Given the description of an element on the screen output the (x, y) to click on. 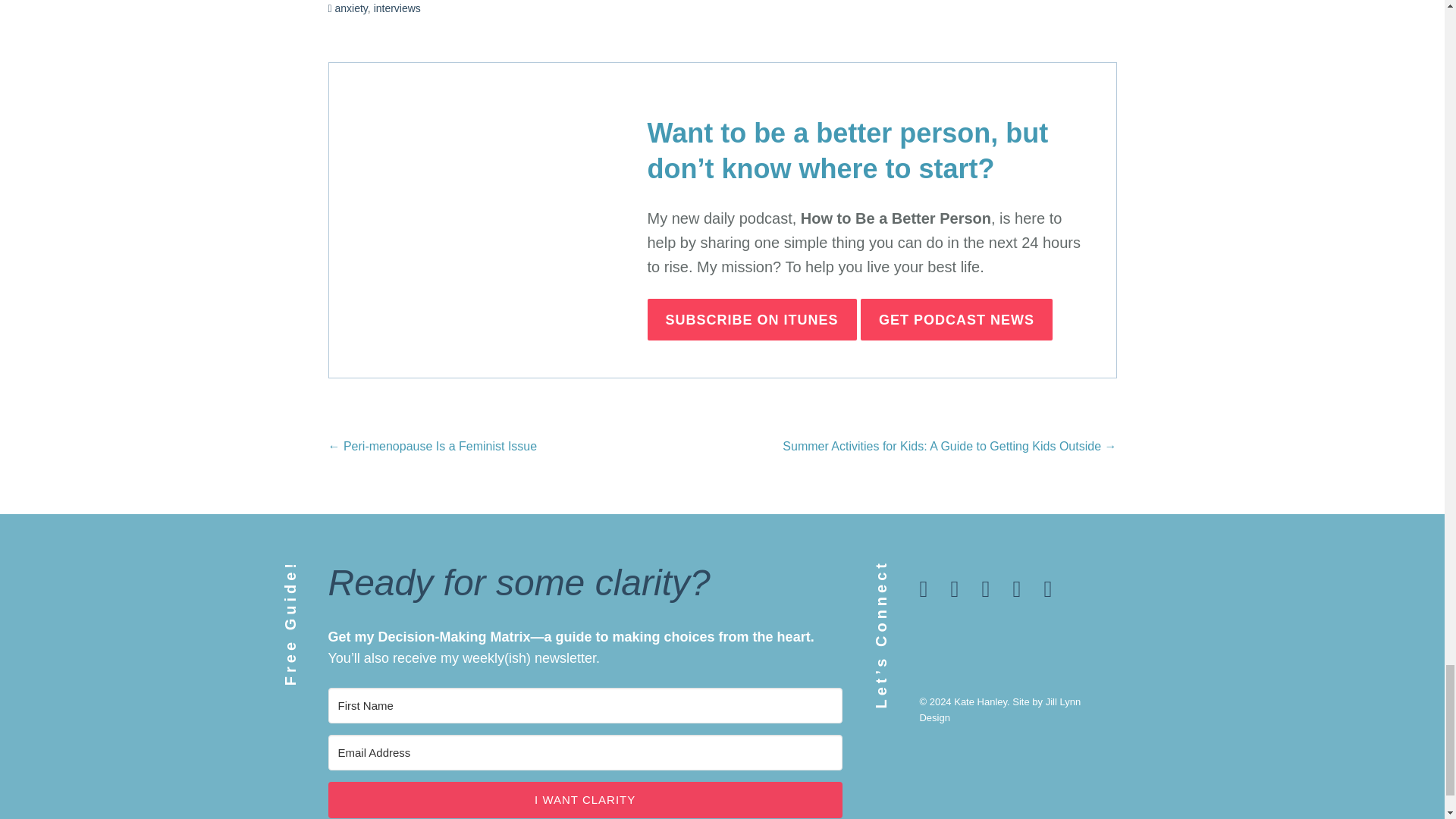
GET PODCAST NEWS (956, 319)
I WANT CLARITY (584, 800)
anxiety (351, 8)
Site by Jill Lynn Design (999, 709)
Atlanta WordPress Developer (999, 709)
interviews (397, 8)
SUBSCRIBE ON ITUNES (752, 319)
